Given the description of an element on the screen output the (x, y) to click on. 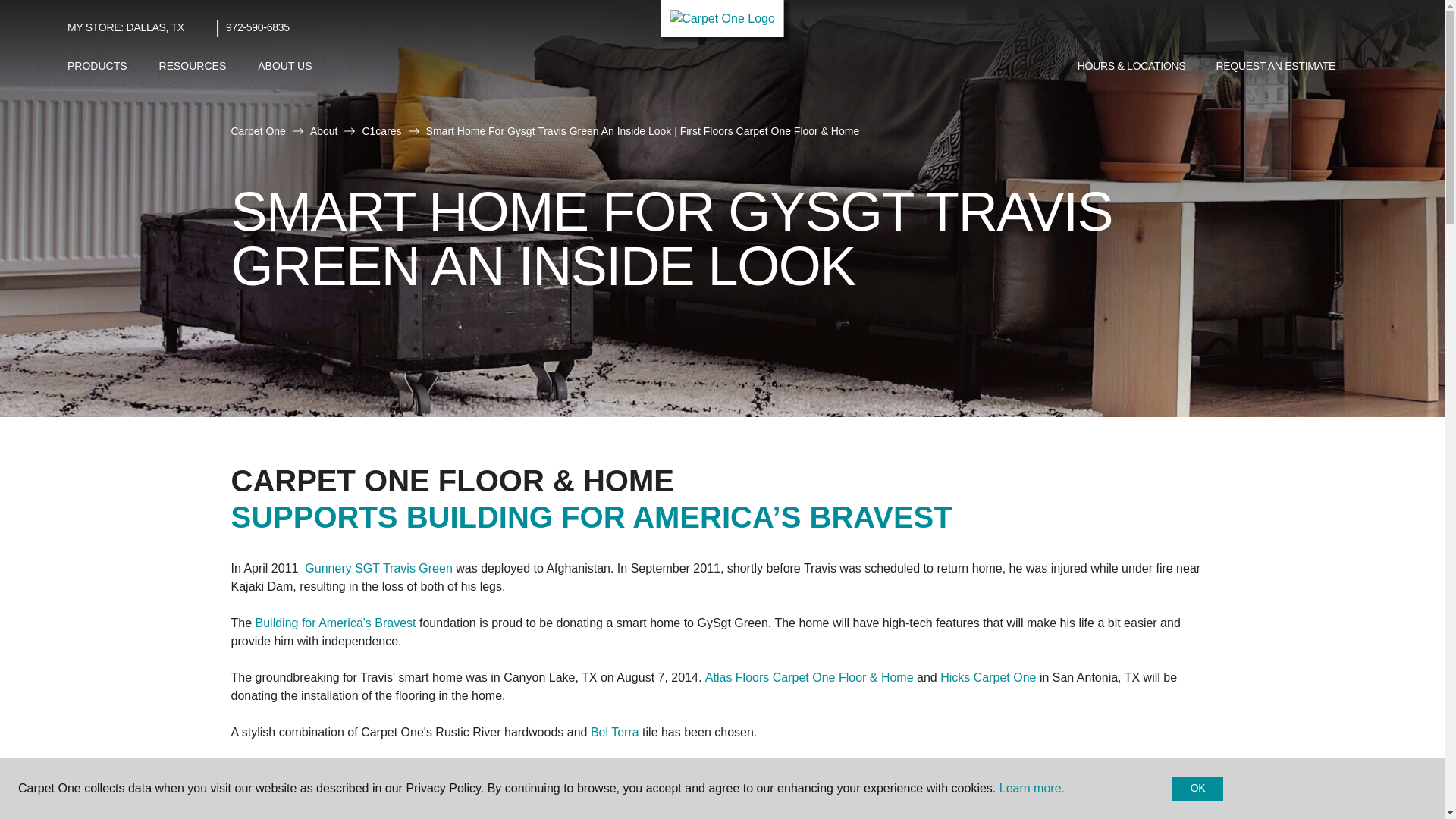
REQUEST AN ESTIMATE (1276, 66)
MY STORE: DALLAS, TX (125, 27)
972-590-6835 (257, 27)
PRODUCTS (97, 66)
RESOURCES (193, 66)
ABOUT US (284, 66)
